Given the description of an element on the screen output the (x, y) to click on. 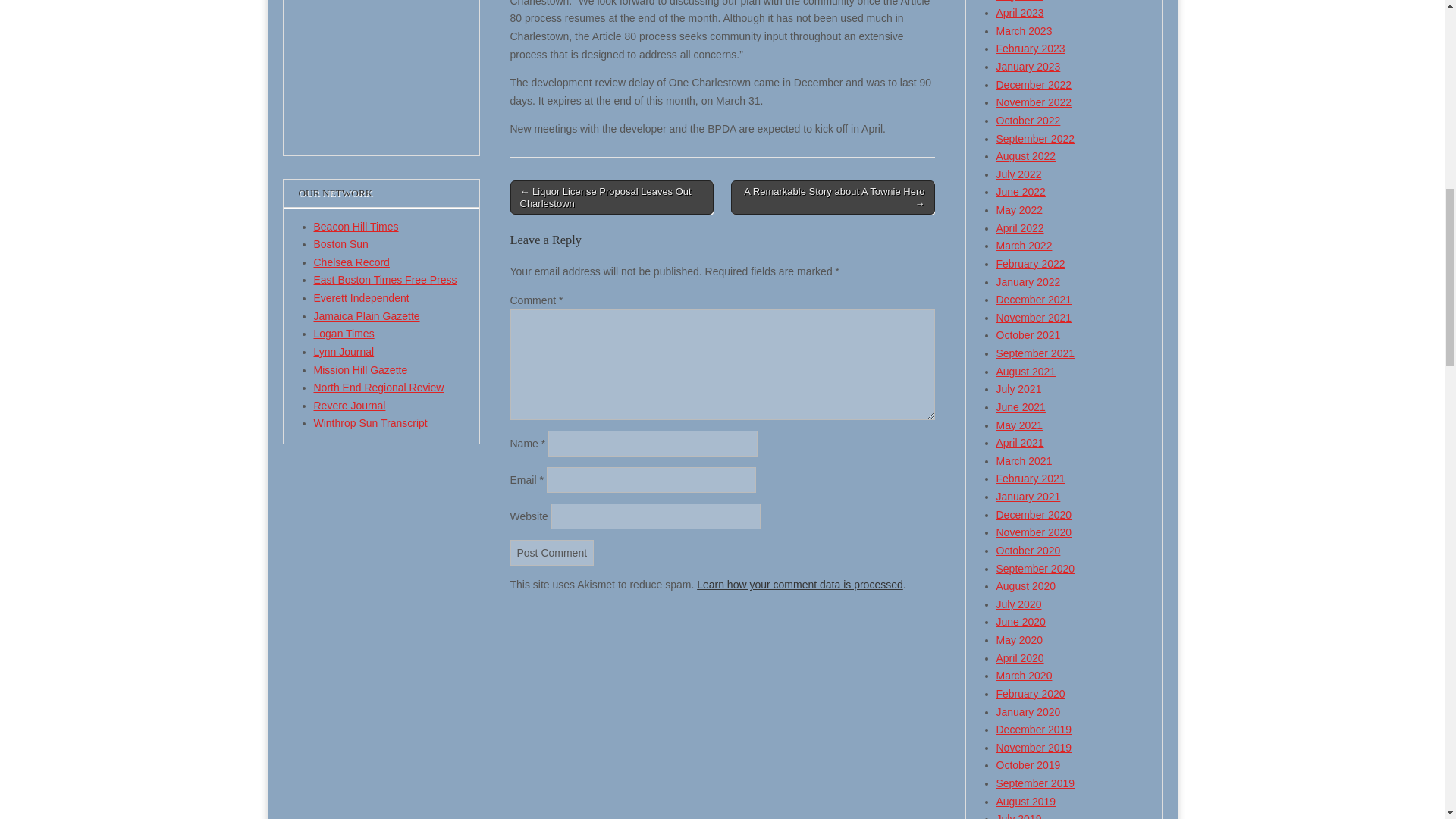
Revere Journal (349, 405)
Learn how your comment data is processed (799, 584)
Boston Sun (341, 244)
Lynn Journal (344, 351)
Winthrop Sun Transcript (371, 422)
Mission Hill Gazette (360, 369)
Logan Times (344, 333)
Jamaica Plain Gazette (367, 316)
East Boston Times Free Press (385, 279)
Post Comment (551, 552)
Chelsea Record (352, 262)
Post Comment (551, 552)
North End Regional Review (379, 387)
Beacon Hill Times (356, 226)
Everett Independent (361, 297)
